Given the description of an element on the screen output the (x, y) to click on. 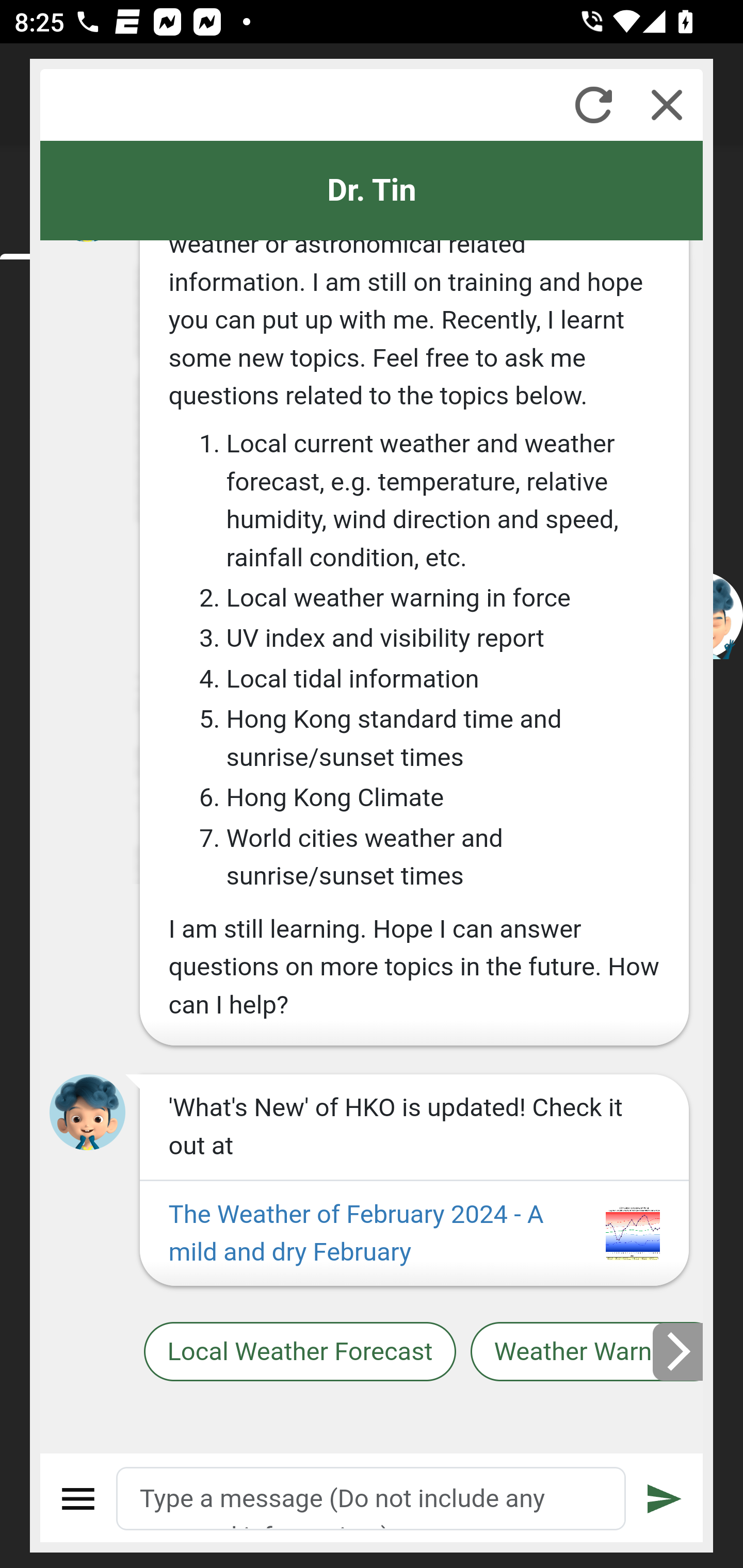
Refresh (593, 104)
Close (666, 104)
Local Weather Forecast (299, 1351)
Weather Warnings (587, 1351)
Next slide (678, 1351)
Menu (78, 1498)
Submit (665, 1498)
